Given the description of an element on the screen output the (x, y) to click on. 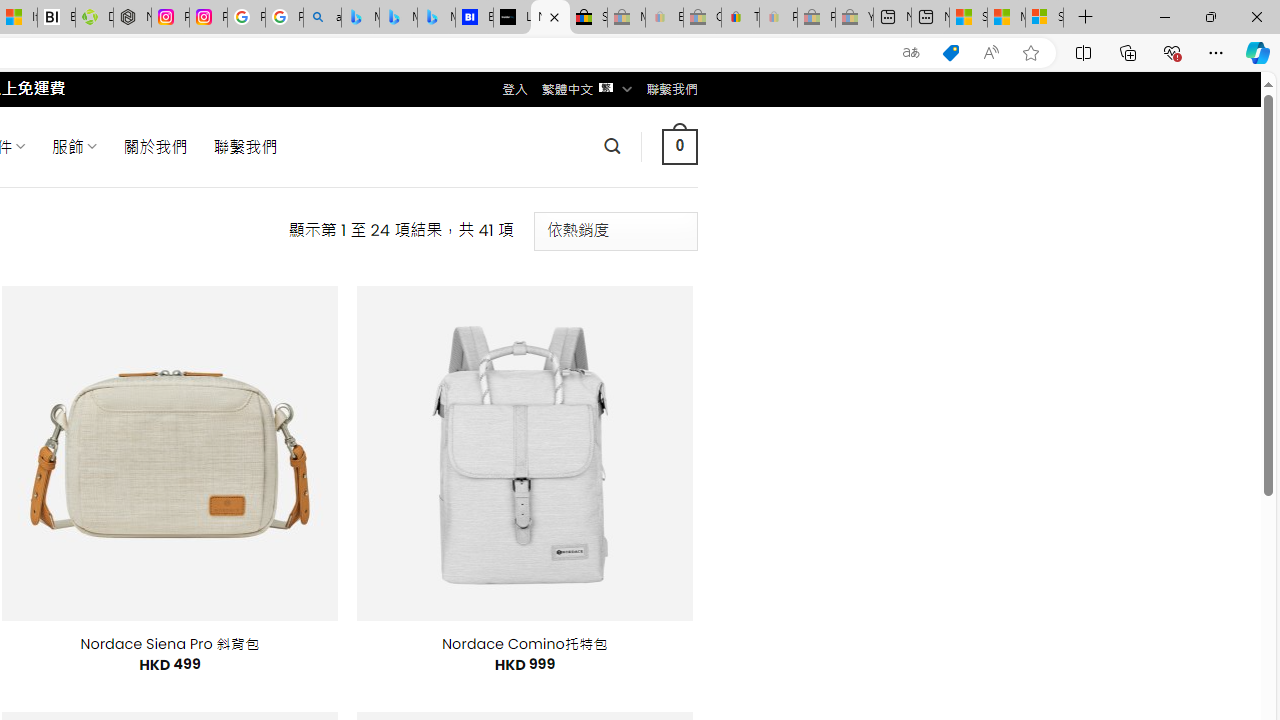
Show translate options (910, 53)
Nordace - Nordace Edin Collection (132, 17)
Press Room - eBay Inc. - Sleeping (815, 17)
This site has coupons! Shopping in Microsoft Edge (950, 53)
Descarga Driver Updater (93, 17)
Threats and offensive language policy | eBay (740, 17)
